Given the description of an element on the screen output the (x, y) to click on. 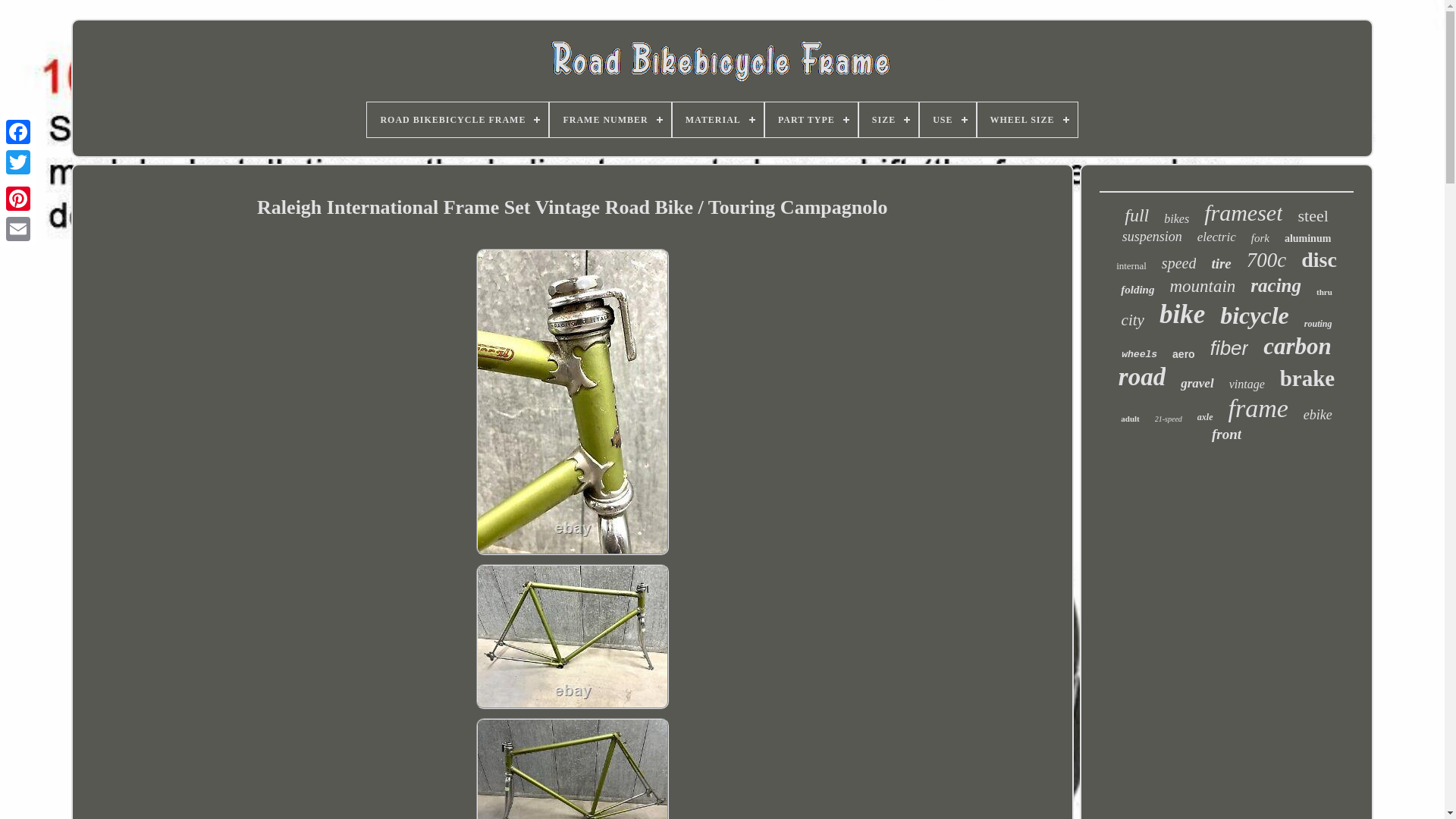
ROAD BIKEBICYCLE FRAME (457, 119)
MATERIAL (717, 119)
FRAME NUMBER (609, 119)
Email (17, 228)
